Given the description of an element on the screen output the (x, y) to click on. 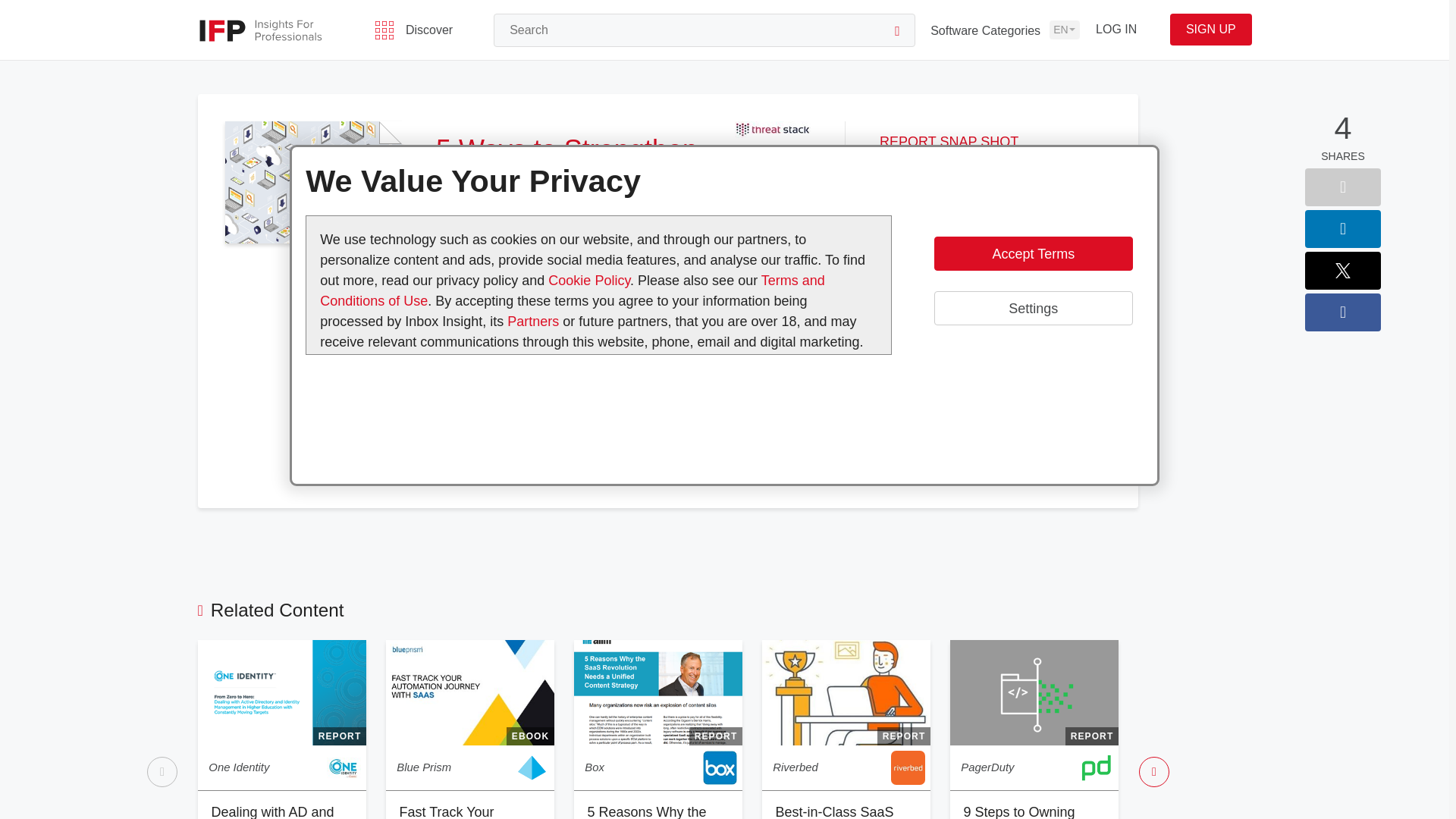
Settings (1033, 308)
SIGN UP (1210, 29)
Share via Email (1342, 187)
9 Steps to Owning Your Code (1018, 811)
Best-in-Class SaaS Performance (833, 811)
Share via LinkedIn (1342, 228)
LOG IN (1116, 29)
Share via Facebook (1342, 312)
privacy policy (588, 372)
Accept Terms (1033, 253)
Share via Twitter (1342, 270)
Dealing with AD and Identity Management in HigherEd (274, 811)
Fast Track Your Automation Journey with SaaS (458, 811)
Partners (534, 321)
